Given the description of an element on the screen output the (x, y) to click on. 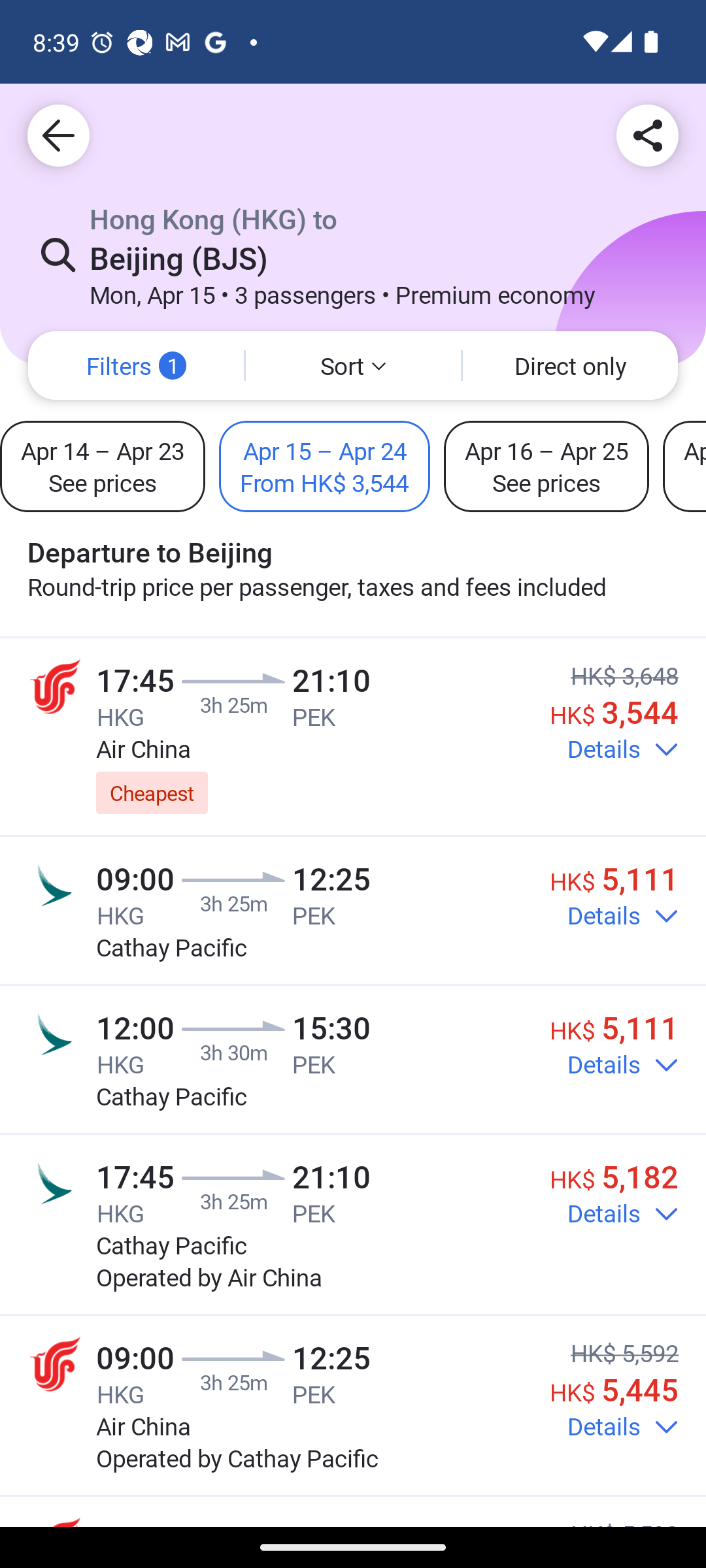
Filters 1 (135, 365)
Sort (353, 365)
Direct only (570, 365)
Apr 14 – Apr 23 See prices (102, 466)
Apr 15 – Apr 24 From HK$ 3,544 (323, 466)
Apr 16 – Apr 25 See prices (546, 466)
